Given the description of an element on the screen output the (x, y) to click on. 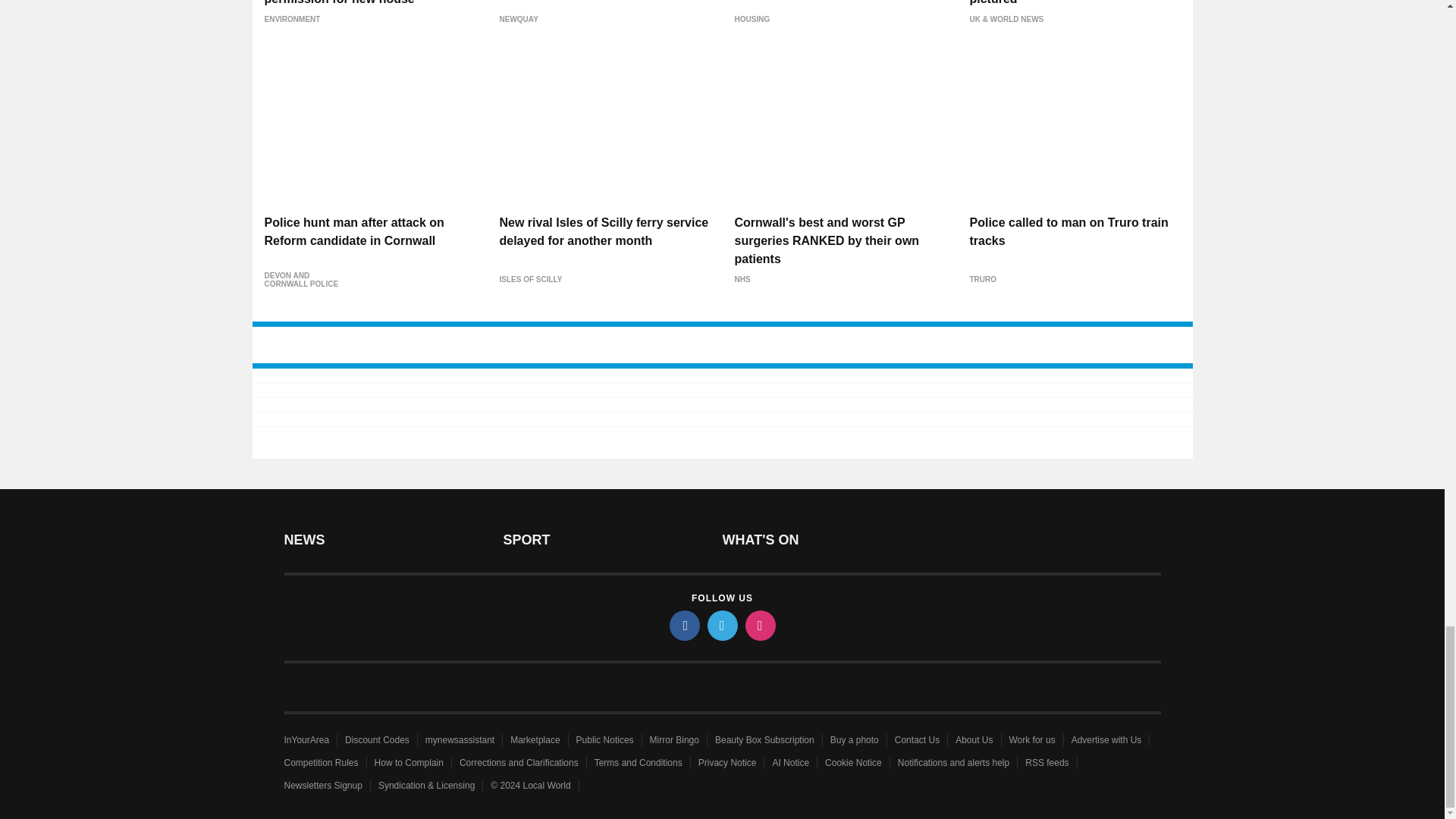
twitter (721, 625)
facebook (683, 625)
instagram (759, 625)
